Given the description of an element on the screen output the (x, y) to click on. 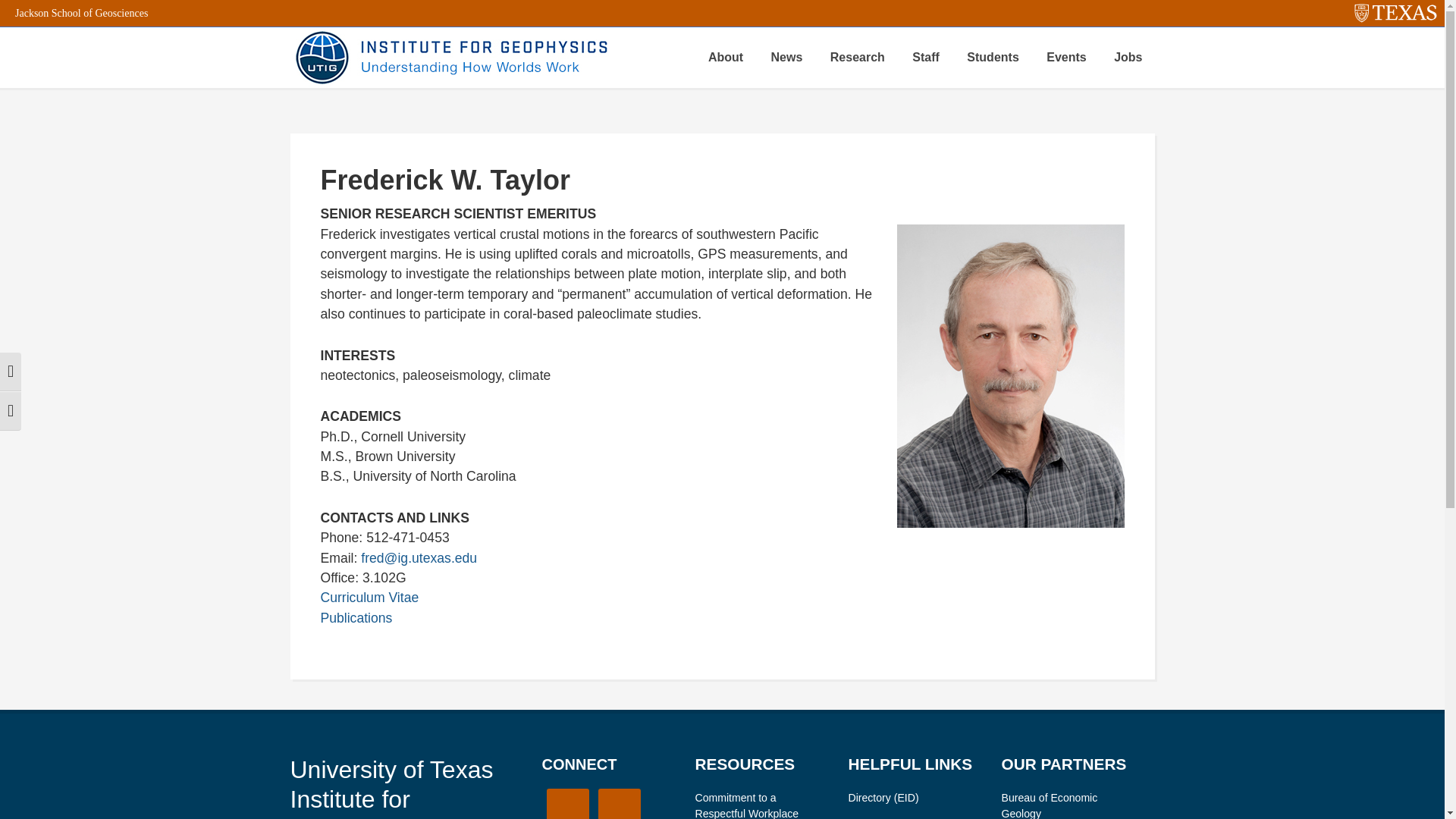
About (725, 57)
Students (992, 57)
News (786, 57)
UT INSTITUTE FOR GEOPHYSICS (448, 57)
Events (1065, 57)
Jackson School of Geosciences (81, 12)
Research (857, 57)
